Given the description of an element on the screen output the (x, y) to click on. 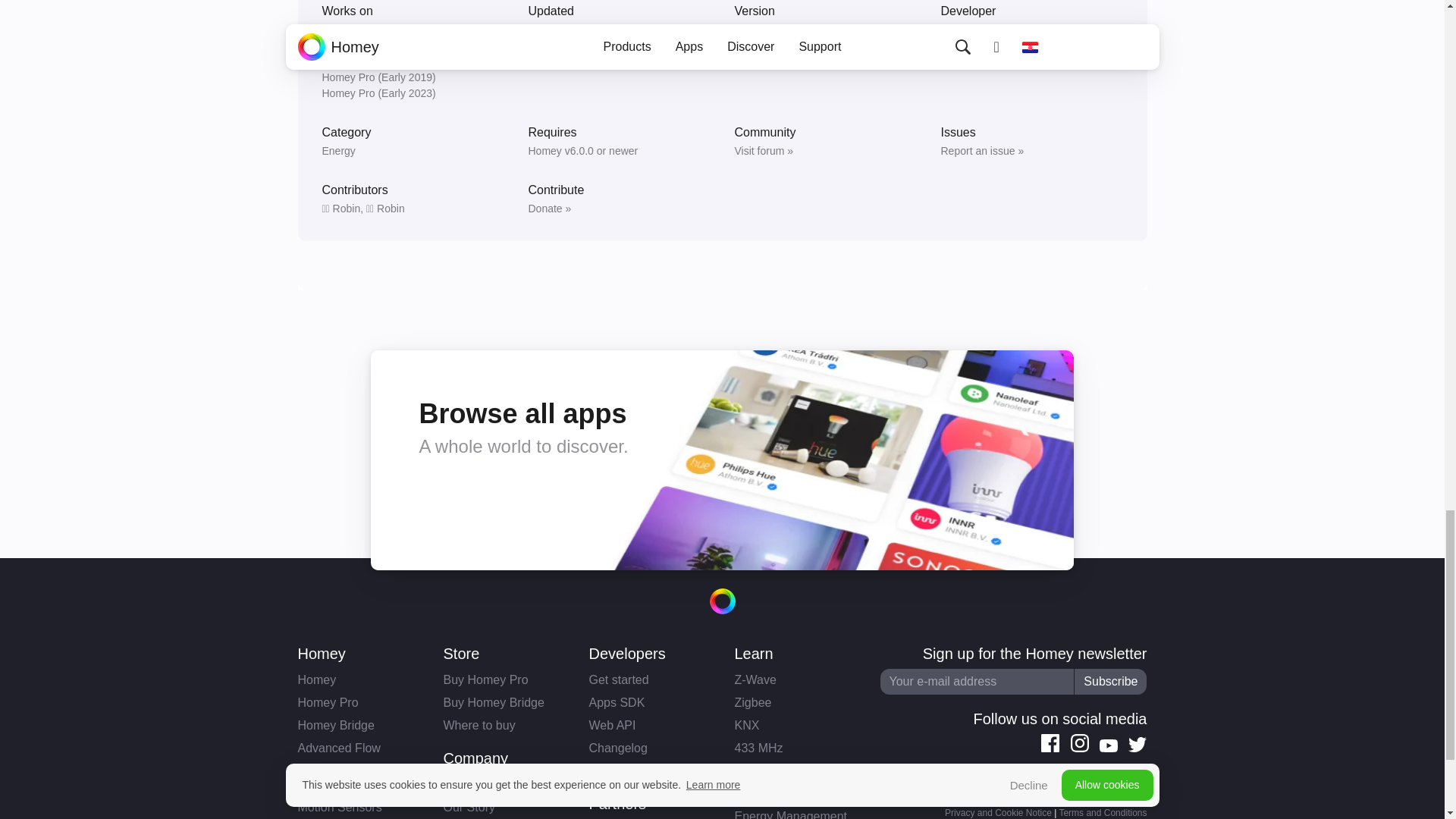
Subscribe (1110, 681)
